Given the description of an element on the screen output the (x, y) to click on. 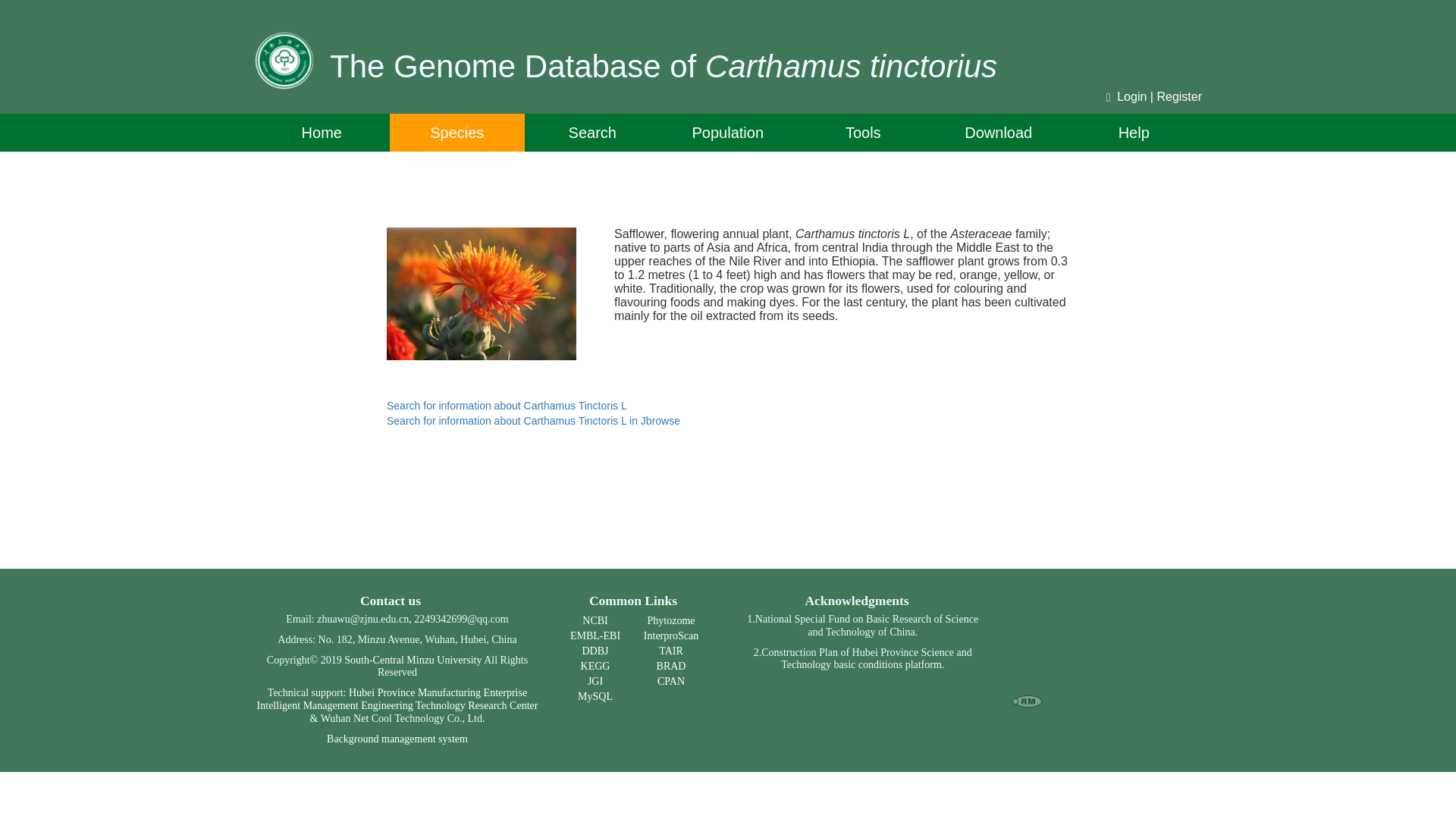
Background management system (396, 738)
EMBL-EBI (595, 635)
Search for information about Carthamus Tinctoris L (507, 406)
Register (1179, 96)
Tools (862, 132)
JGI (595, 681)
TAIR (670, 650)
Login (1131, 96)
Population (726, 132)
InterproScan (670, 635)
